Given the description of an element on the screen output the (x, y) to click on. 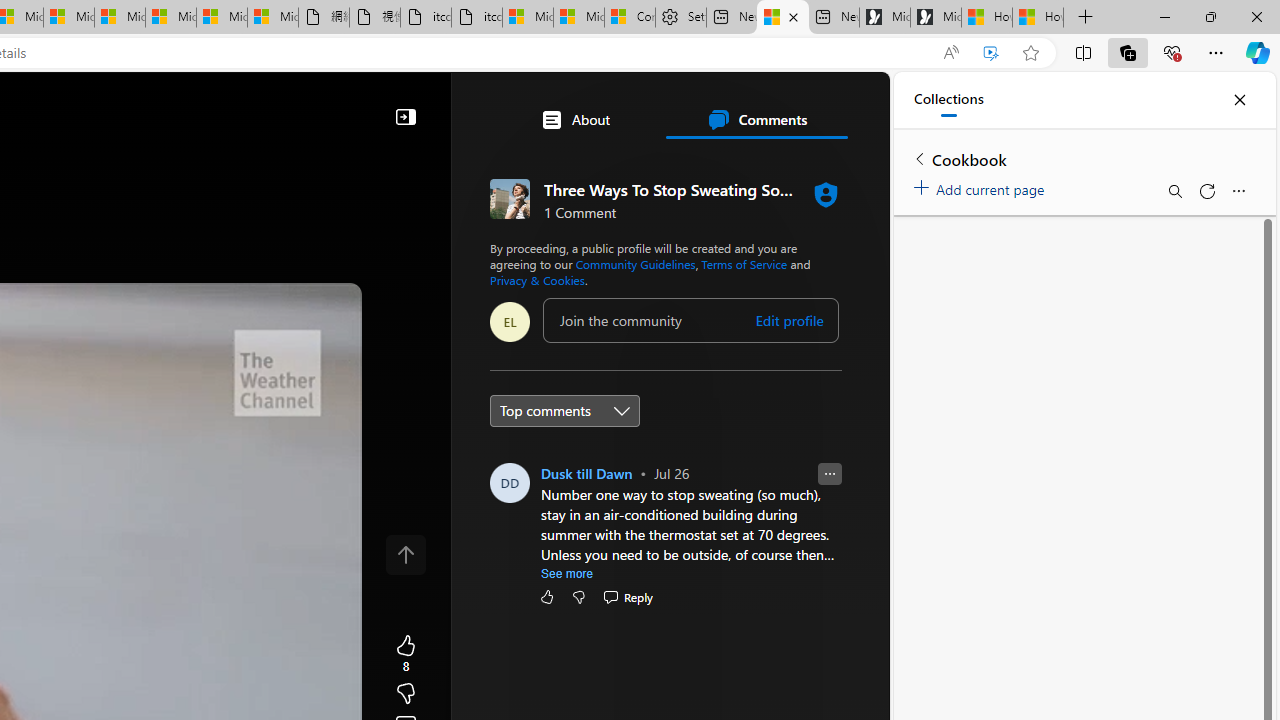
Reply Reply Comment (627, 596)
Add current page (982, 186)
Microsoft Start Gaming (936, 17)
